Given the description of an element on the screen output the (x, y) to click on. 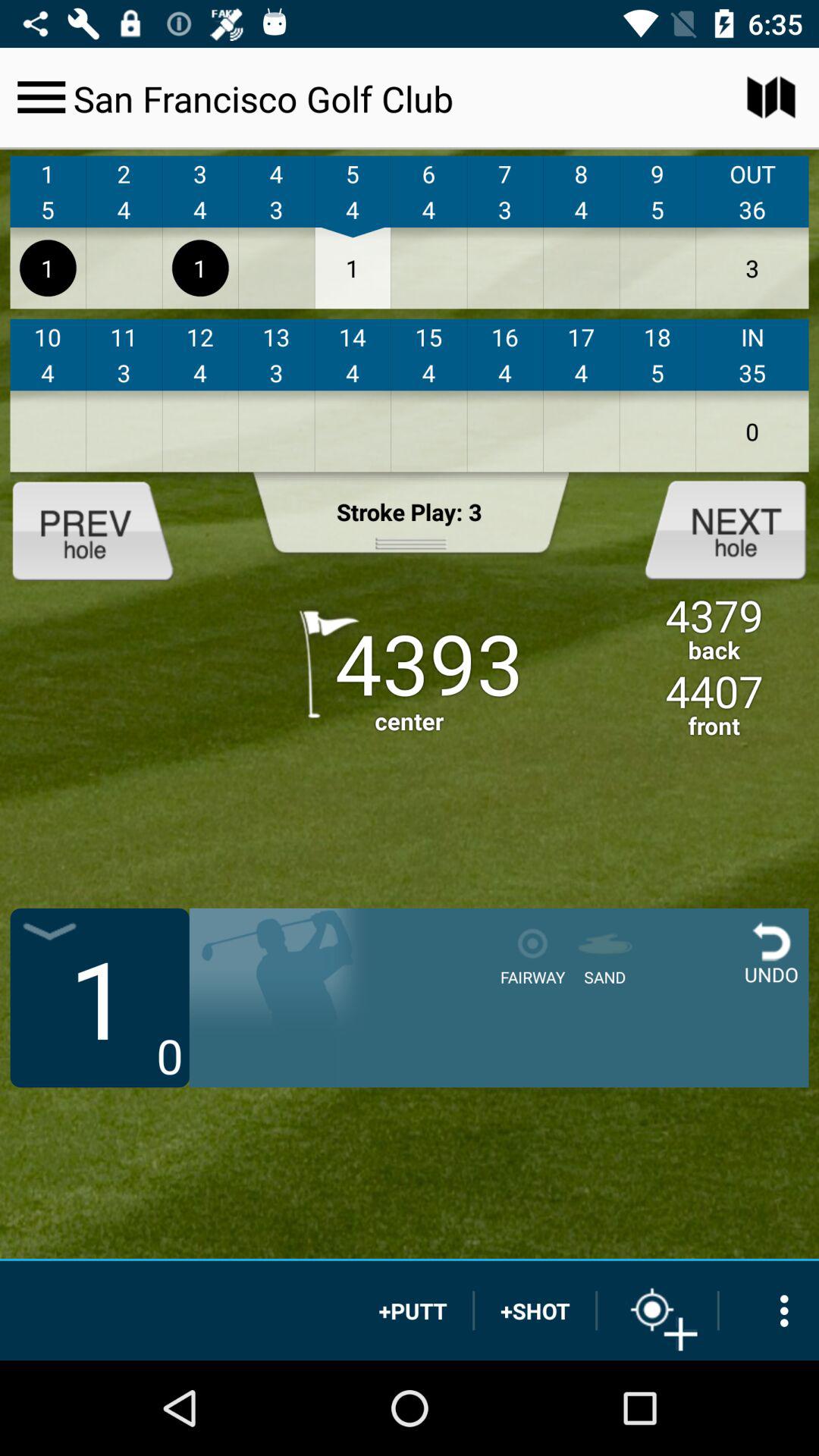
go to customs (41, 97)
